Given the description of an element on the screen output the (x, y) to click on. 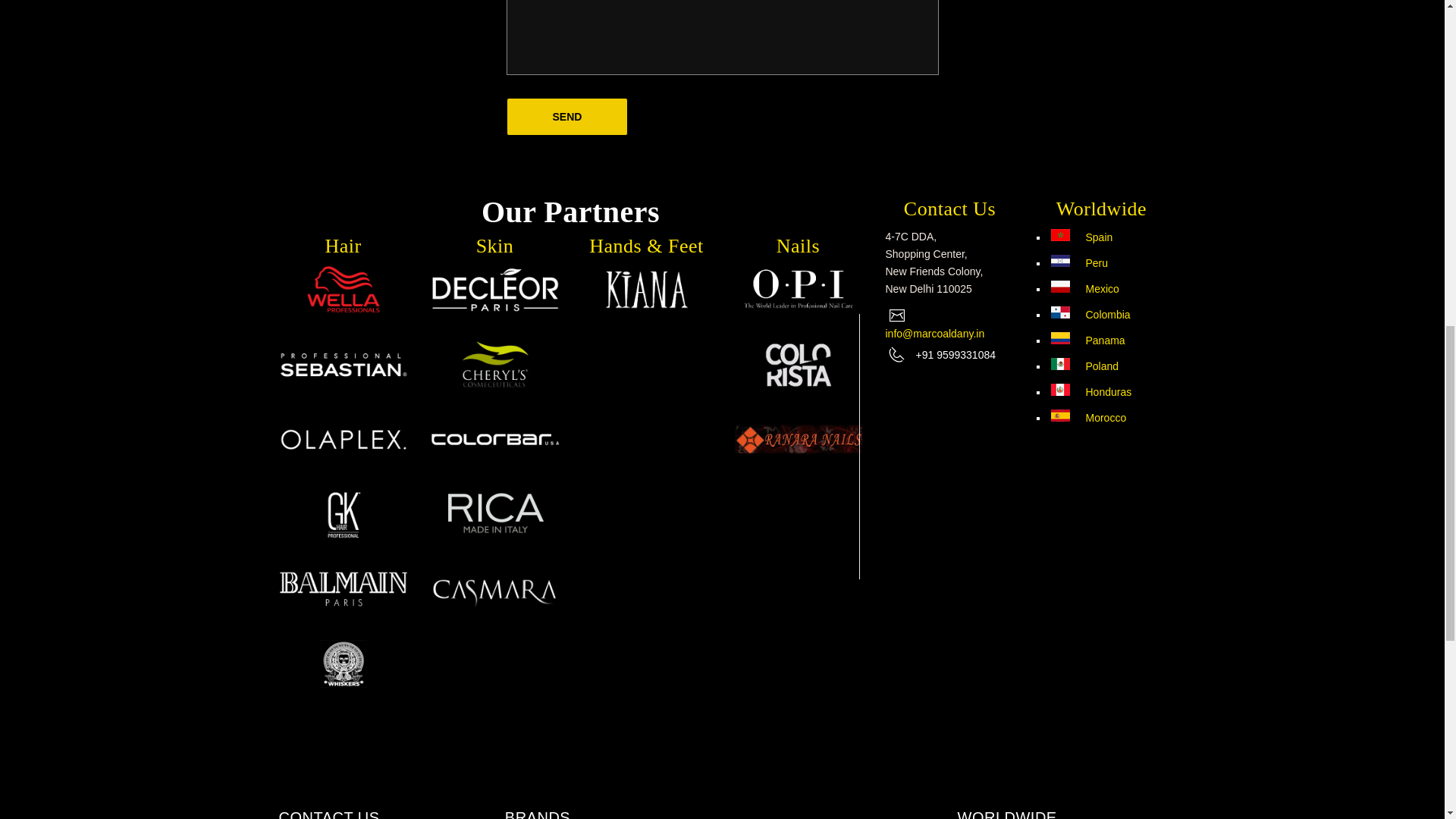
Send (567, 116)
Spain (1081, 236)
Mexico (1084, 288)
Colombia (1090, 314)
Send (567, 116)
Panama (1087, 340)
Morocco (1088, 417)
Honduras (1091, 391)
Peru (1079, 263)
Poland (1084, 366)
